Given the description of an element on the screen output the (x, y) to click on. 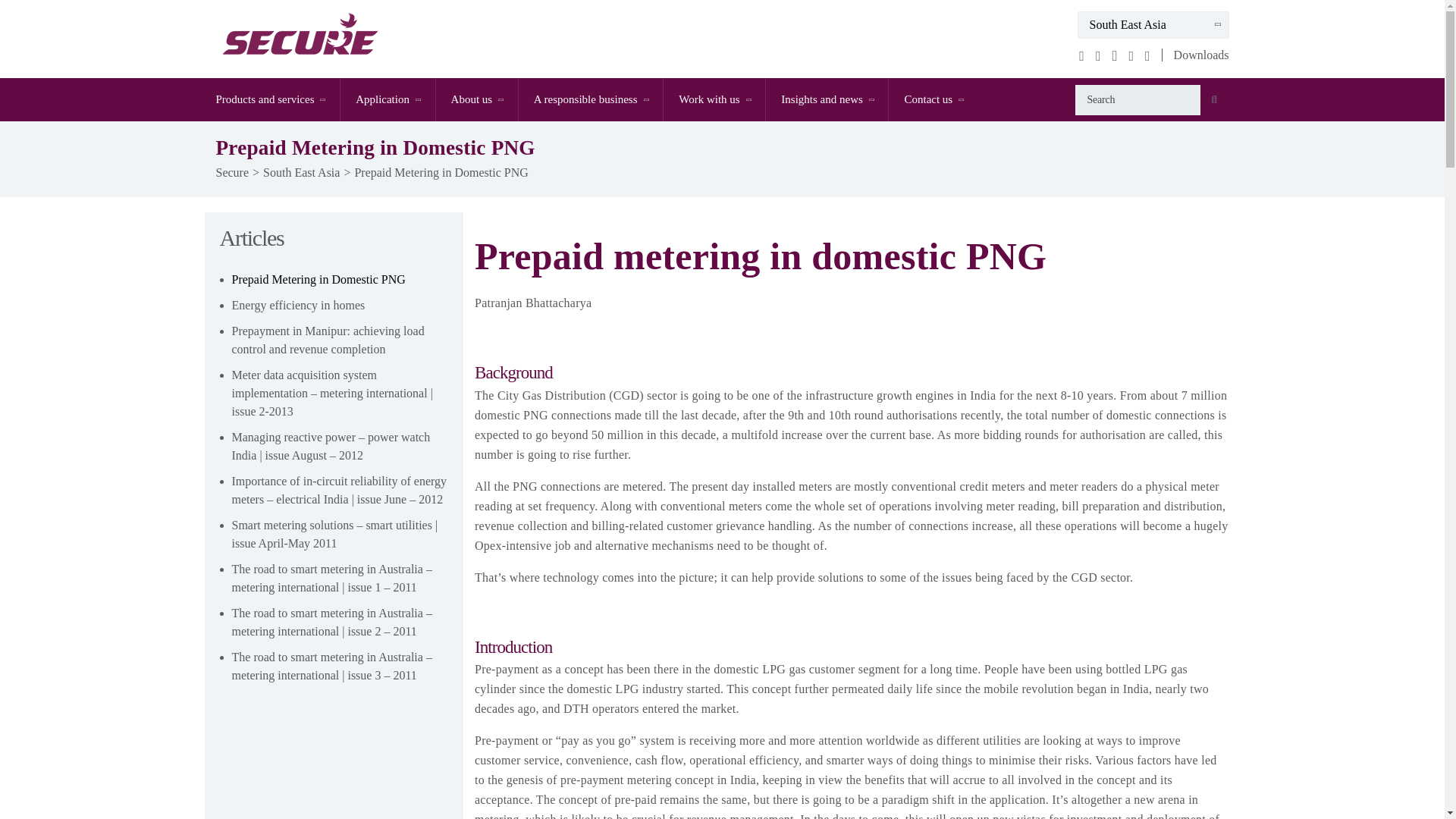
Application (386, 99)
Downloads (1194, 54)
Products and services (277, 99)
